Given the description of an element on the screen output the (x, y) to click on. 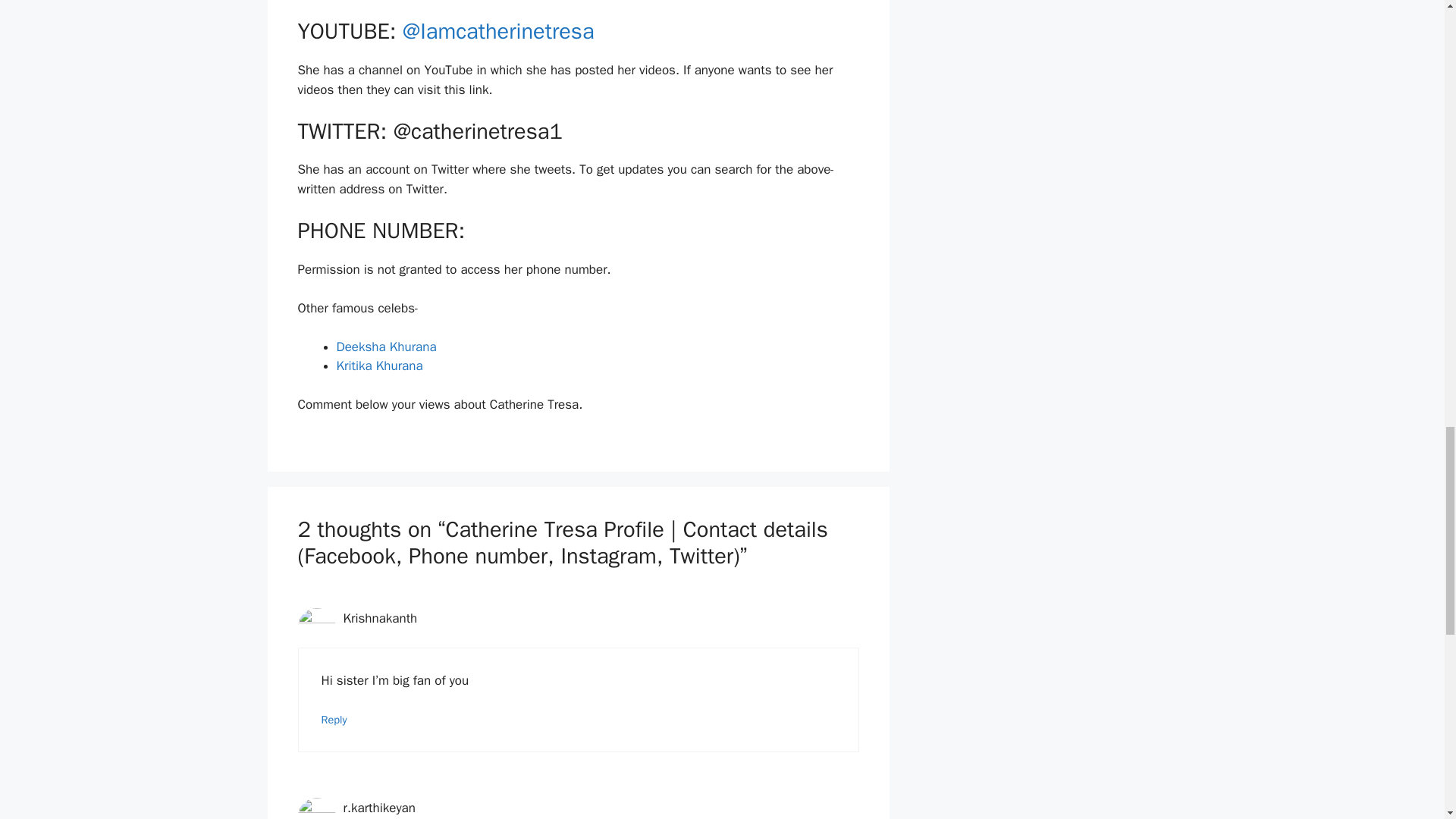
Kritika Khurana (379, 365)
Deeksha Khurana (386, 346)
Reply (334, 719)
